Given the description of an element on the screen output the (x, y) to click on. 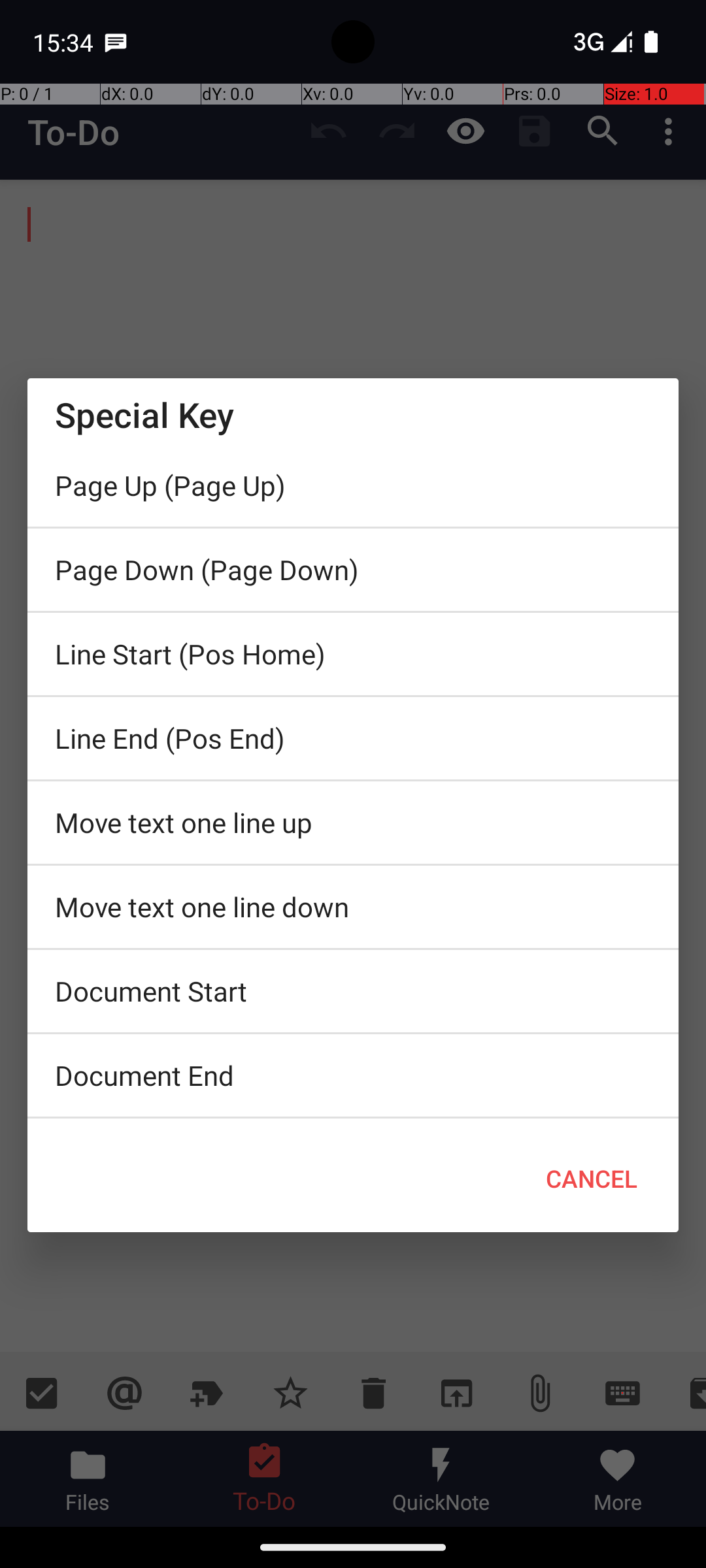
Page Up (Page Up) Element type: android.widget.TextView (352, 485)
Page Down (Page Down) Element type: android.widget.TextView (352, 569)
Line Start (Pos Home) Element type: android.widget.TextView (352, 653)
Line End (Pos End) Element type: android.widget.TextView (352, 738)
Move text one line up Element type: android.widget.TextView (352, 822)
Move text one line down Element type: android.widget.TextView (352, 906)
Document Start Element type: android.widget.TextView (352, 990)
Document End Element type: android.widget.TextView (352, 1075)
Select all (Ctrl+A) Element type: android.widget.TextView (352, 1121)
